Given the description of an element on the screen output the (x, y) to click on. 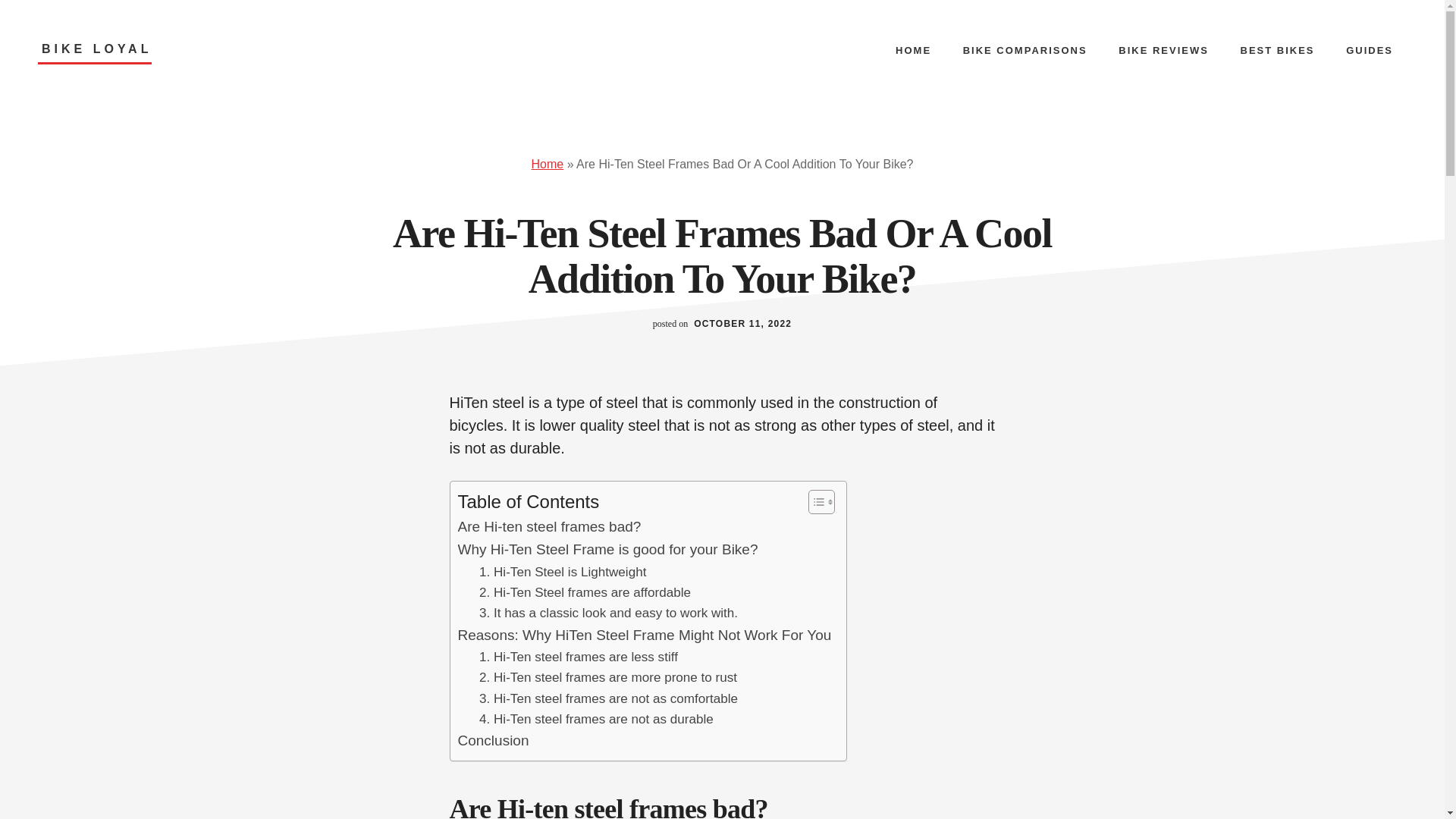
3. It has a classic look and easy to work with. (608, 612)
GUIDES (1369, 50)
4. Hi-Ten steel frames are not as durable (596, 719)
Reasons: Why HiTen Steel Frame Might Not Work For You (644, 635)
1. Hi-Ten steel frames are less stiff (578, 657)
Conclusion (493, 740)
Are Hi-ten steel frames bad? (550, 526)
1. Hi-Ten Steel is Lightweight (562, 571)
Are Hi-ten steel frames bad? (550, 526)
3. Hi-Ten steel frames are not as comfortable (608, 698)
4. Hi-Ten steel frames are not as durable (596, 719)
2. Hi-Ten steel frames are more prone to rust (607, 677)
Why Hi-Ten Steel Frame is good for your Bike? (608, 549)
2. Hi-Ten Steel frames are affordable (584, 592)
